Given the description of an element on the screen output the (x, y) to click on. 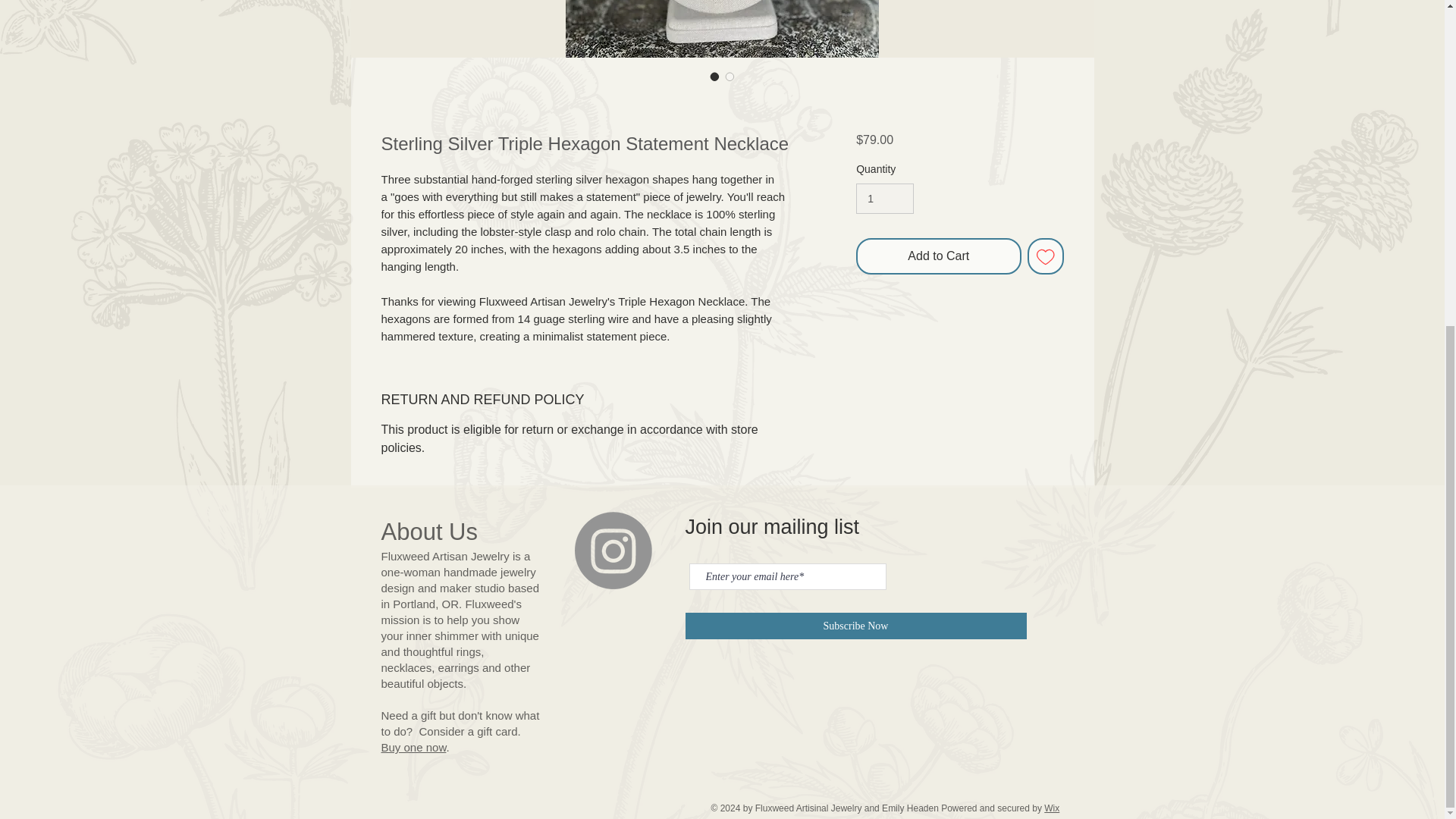
1 (885, 198)
Buy one now (412, 747)
Subscribe Now (855, 625)
Add to Cart (938, 256)
Wix (1051, 808)
